Given the description of an element on the screen output the (x, y) to click on. 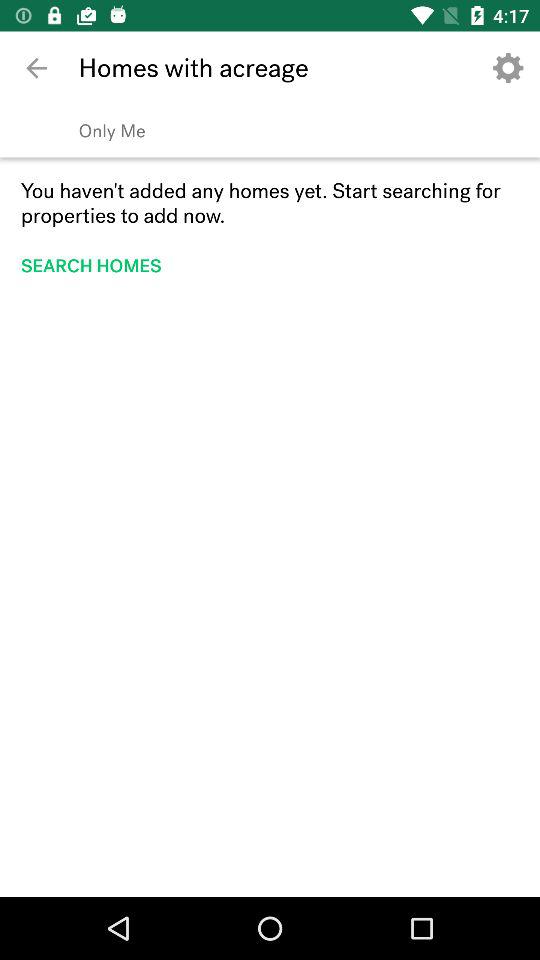
tap the app next to the homes with acreage icon (508, 67)
